Given the description of an element on the screen output the (x, y) to click on. 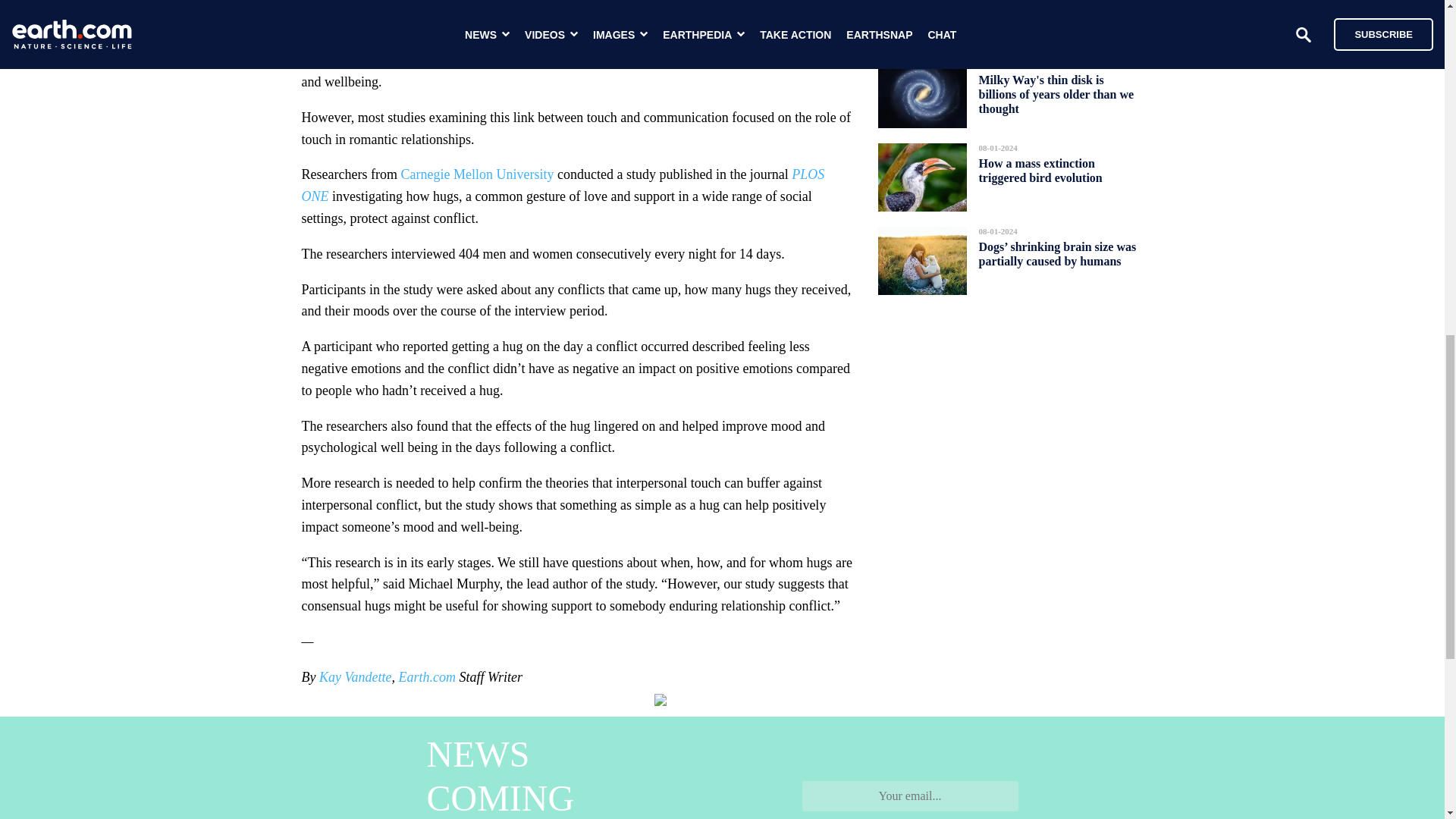
Carnegie Mellon University (476, 174)
PLOS ONE (563, 185)
Kay Vandette (354, 676)
How a mass extinction triggered bird evolution (1040, 170)
Earth.com (426, 676)
stress (607, 59)
